Given the description of an element on the screen output the (x, y) to click on. 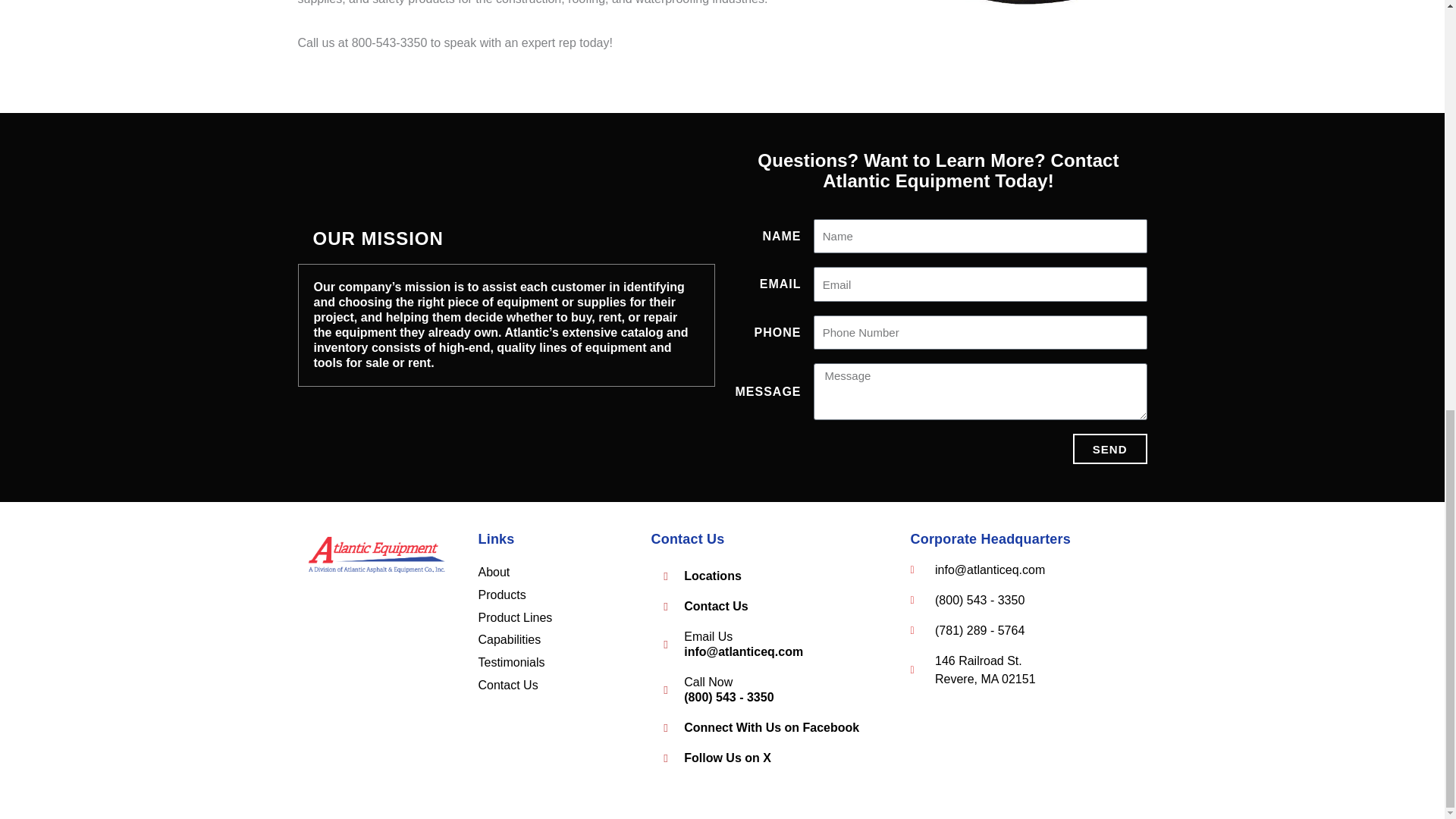
Contact Us (507, 684)
SEND (1110, 449)
Contact Us (765, 606)
About (493, 571)
Locations (765, 575)
Products (501, 594)
Capabilities (508, 639)
Product Lines (514, 617)
Testimonials (510, 662)
